Given the description of an element on the screen output the (x, y) to click on. 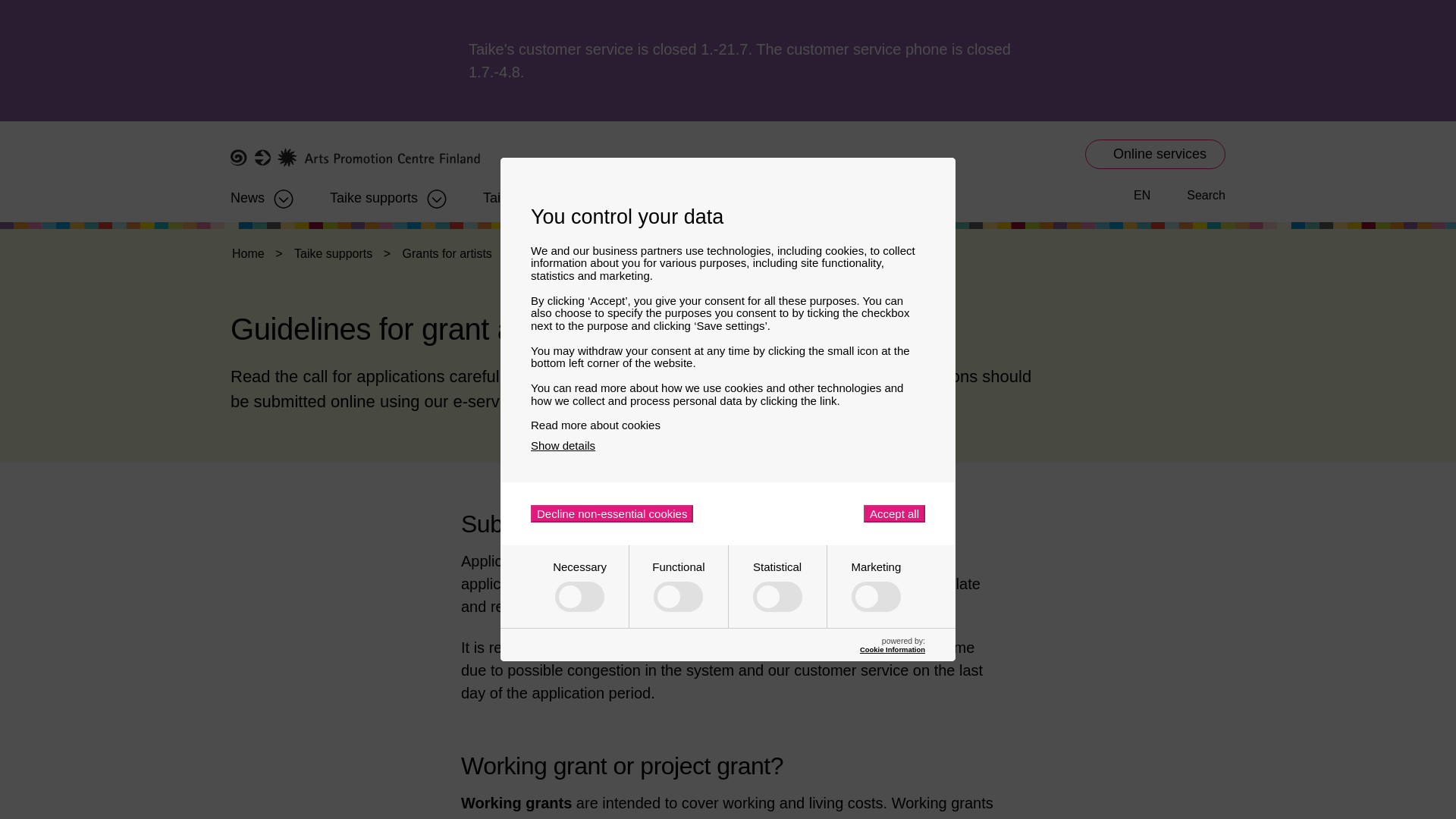
Read more about cookies (727, 424)
Home page (355, 157)
Show details (563, 445)
Accept all (893, 513)
Apurahat ja avustukset (373, 192)
Cookie Information (892, 649)
Decline non-essential cookies (612, 513)
